Given the description of an element on the screen output the (x, y) to click on. 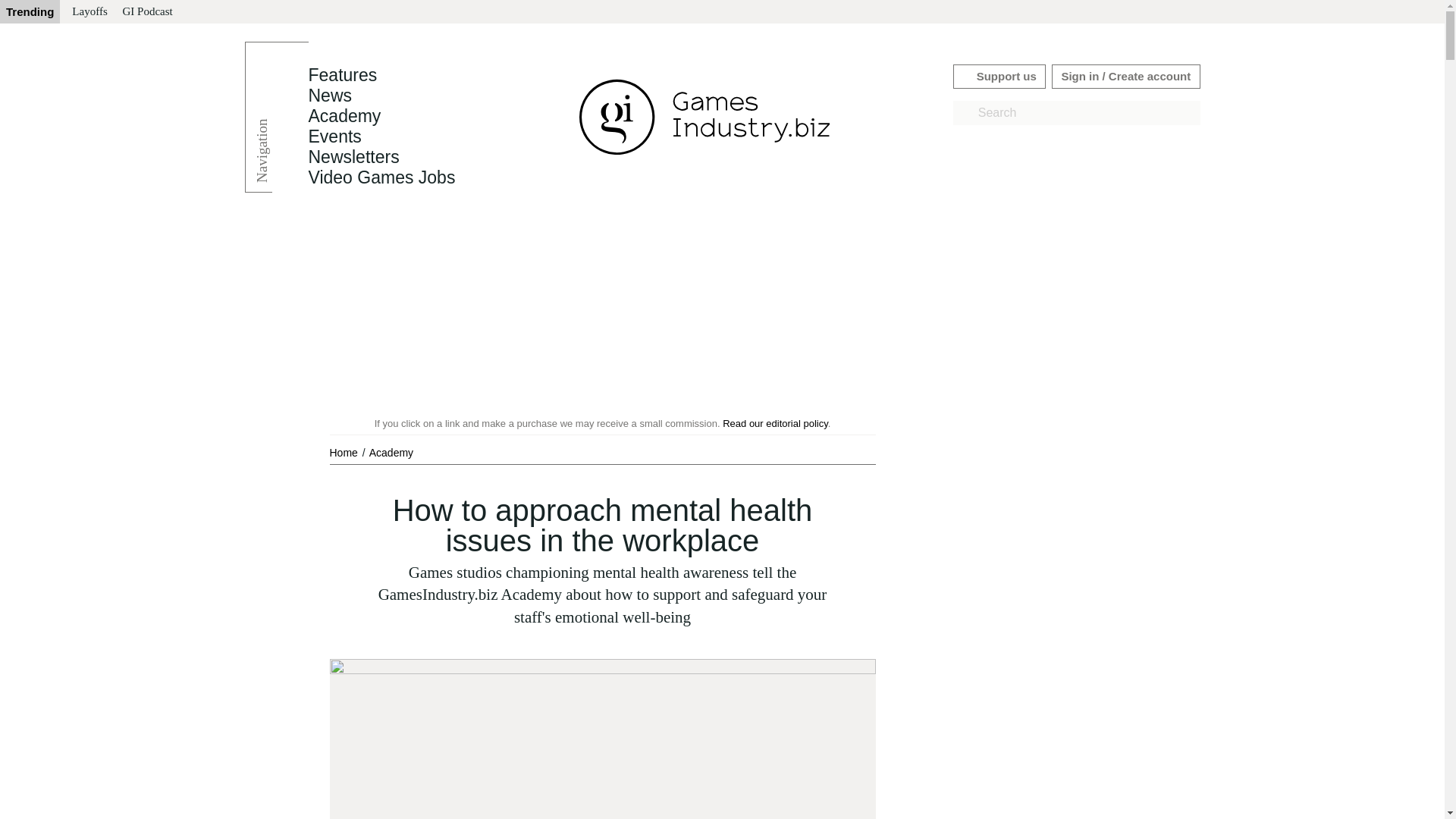
GI Podcast (146, 11)
Events (334, 136)
Newsletters (352, 157)
Layoffs (89, 11)
Video Games Jobs (380, 177)
Academy (343, 116)
Home (344, 452)
Support us (999, 75)
Features (342, 75)
Read our editorial policy (775, 423)
News (329, 95)
Academy (391, 452)
Academy (343, 116)
Events (334, 136)
Video Games Jobs (380, 177)
